Given the description of an element on the screen output the (x, y) to click on. 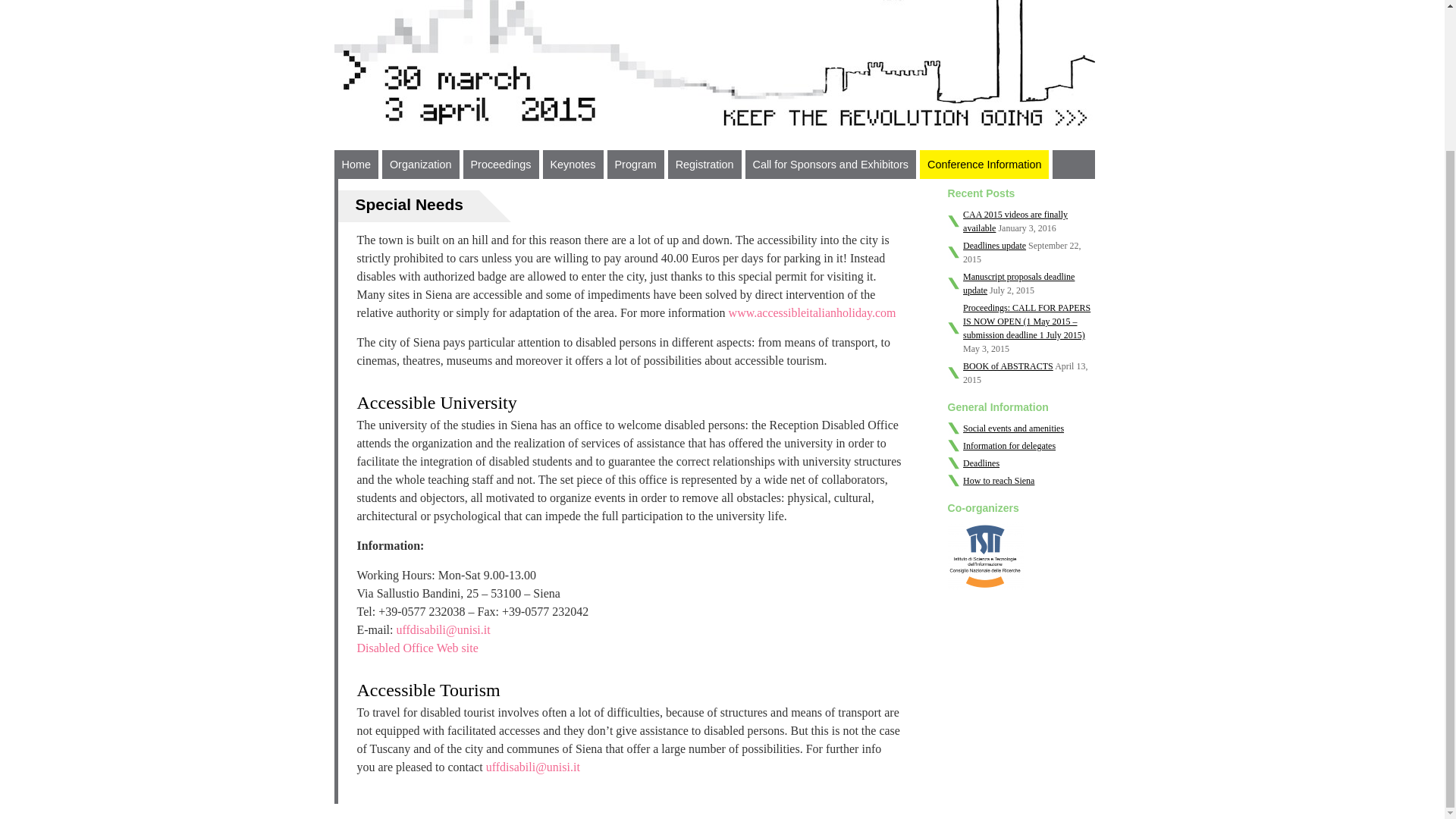
Organization (420, 164)
Home (355, 164)
Call for Sponsors and Exhibitors (829, 164)
Proceedings (500, 164)
Registration (704, 164)
Conference Information (984, 164)
www.accessibleitalianholiday.com (812, 312)
Disabled Office Web site (416, 647)
Keynotes (573, 164)
Program (635, 164)
